Given the description of an element on the screen output the (x, y) to click on. 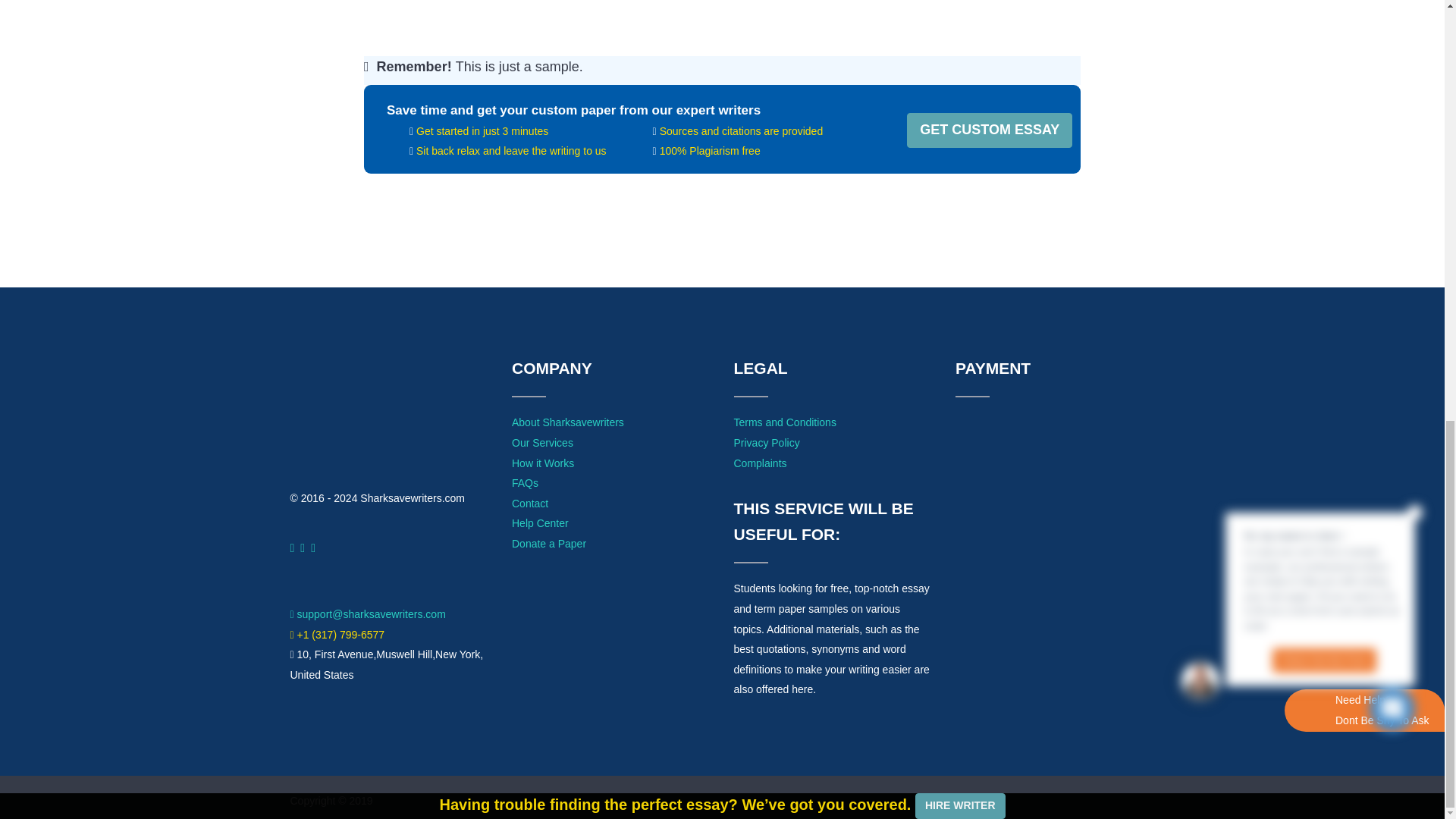
About Sharksavewriters (568, 422)
Terms and Conditions (784, 422)
Donate a Paper (549, 543)
GET CUSTOM ESSAY (989, 130)
Our Services (542, 442)
Help Center (540, 522)
How it Works (542, 463)
FAQs (525, 482)
Complaints (760, 463)
Contact (530, 503)
